Given the description of an element on the screen output the (x, y) to click on. 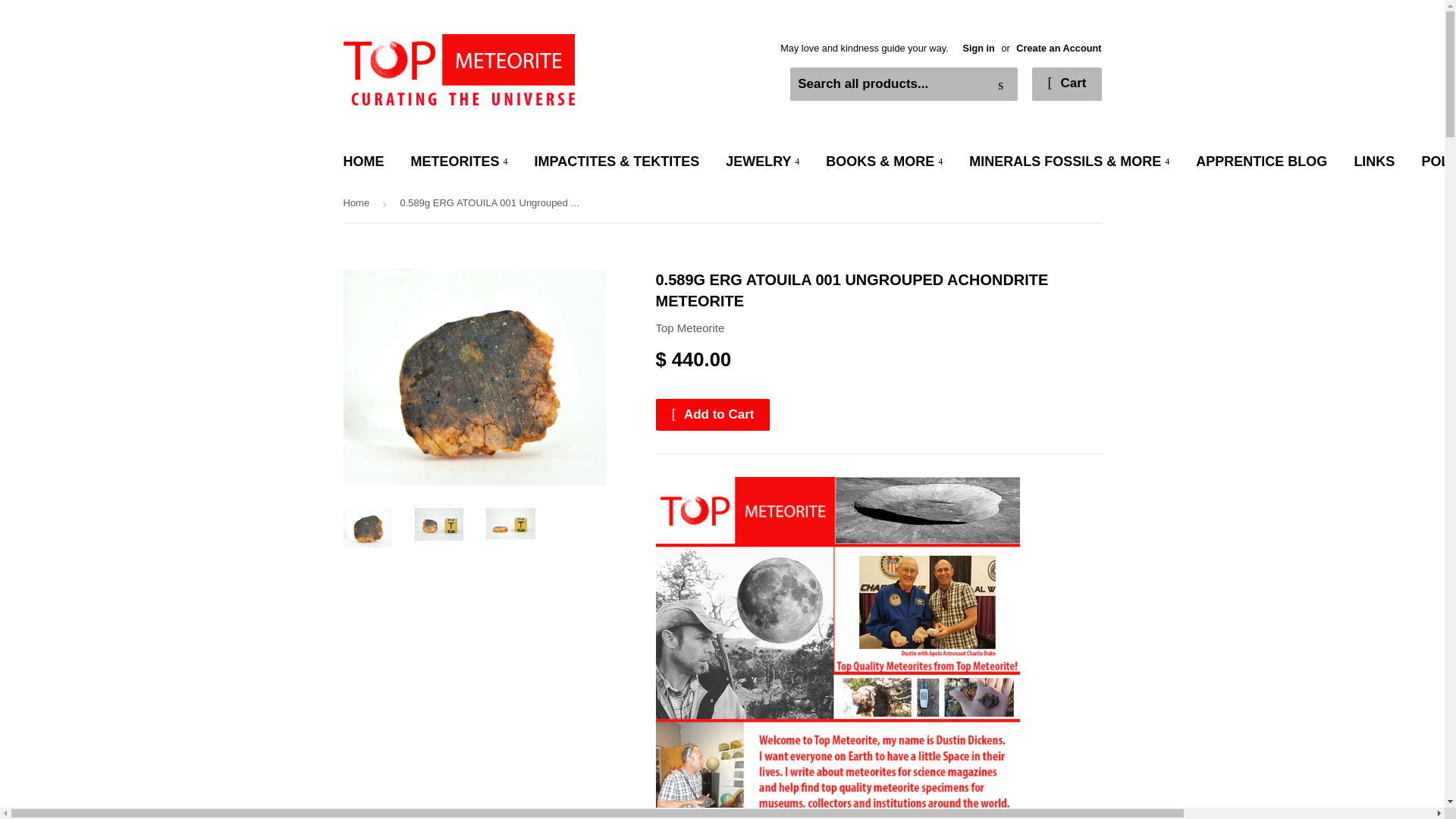
HOME (363, 161)
Sign in (978, 48)
JEWELRY (762, 161)
LINKS (1374, 161)
METEORITES (458, 161)
APPRENTICE BLOG (1261, 161)
Create an Account (1058, 48)
Search (1000, 84)
Cart (1066, 83)
